Given the description of an element on the screen output the (x, y) to click on. 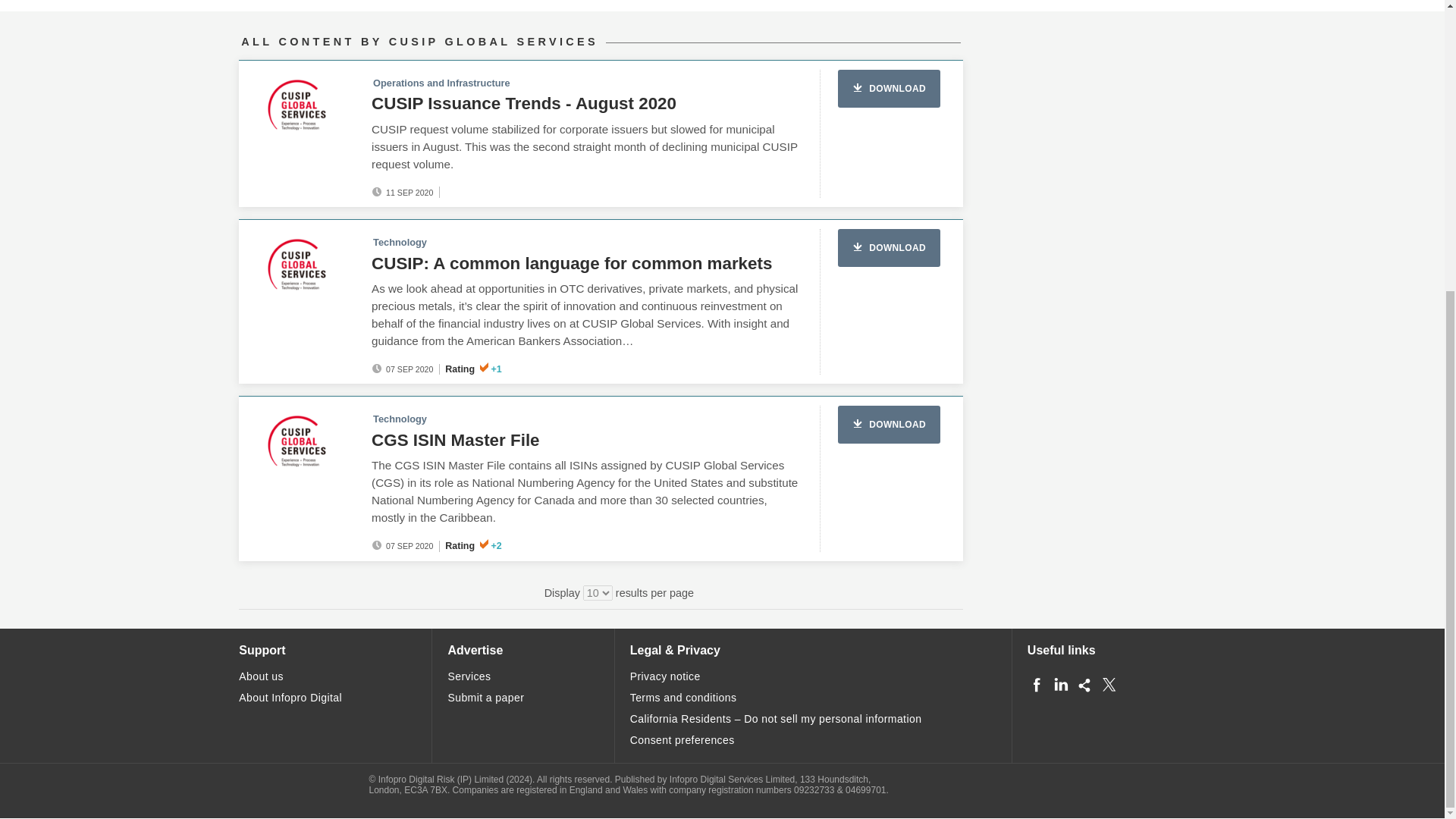
CUSIP: A common language for common markets (571, 262)
CUSIP Issuance Trends - August 2020 (524, 103)
CUSIP Issuance Trends - August 2020 (524, 103)
Operations and Infrastructure (441, 82)
CGS ISIN Master File (454, 439)
